Given the description of an element on the screen output the (x, y) to click on. 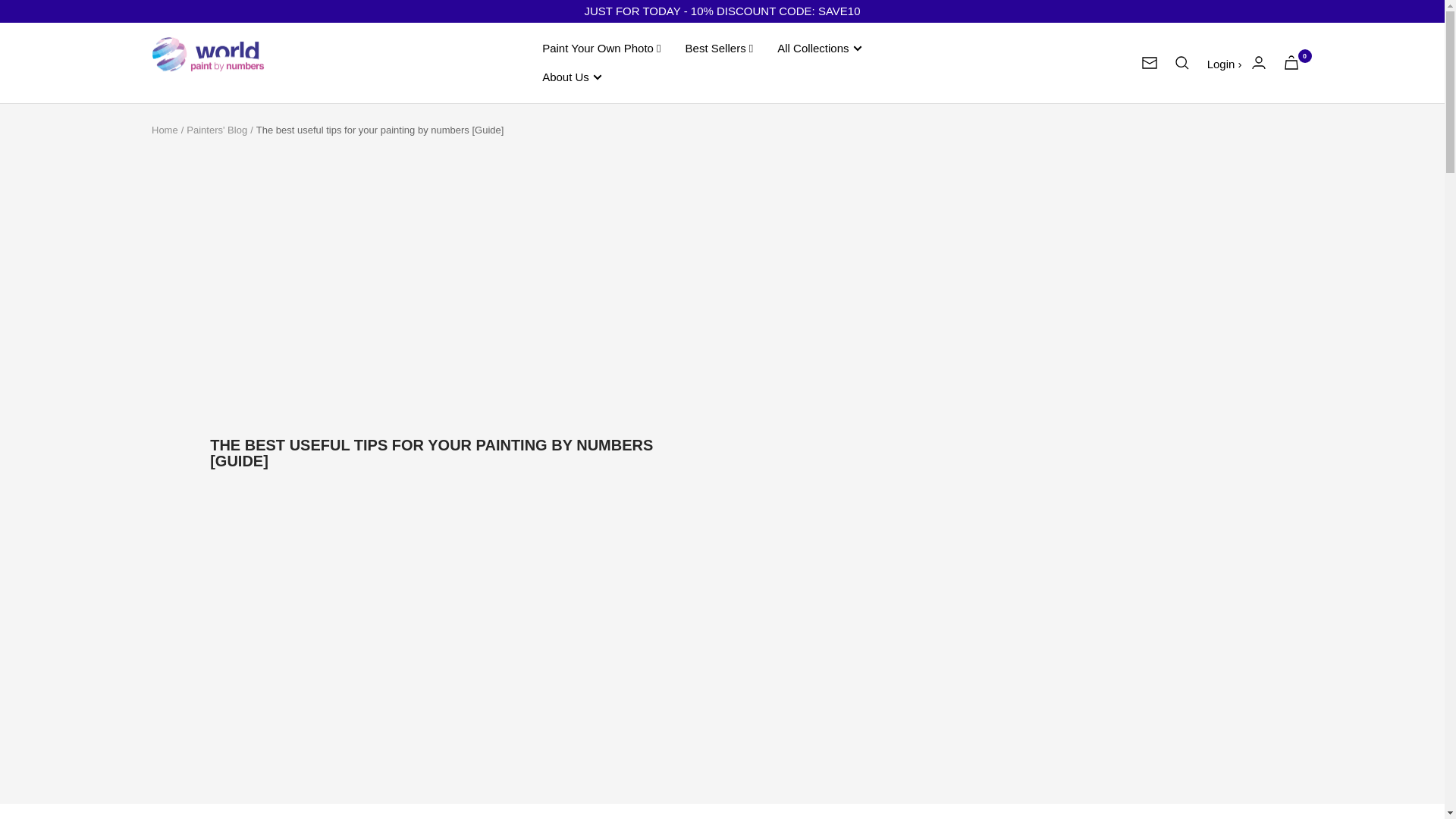
0 (1291, 62)
About Us (571, 76)
All Collections (819, 48)
Home (164, 129)
Newsletter (1149, 62)
Painters' Blog (216, 129)
World Paint by Numbers (207, 63)
